Given the description of an element on the screen output the (x, y) to click on. 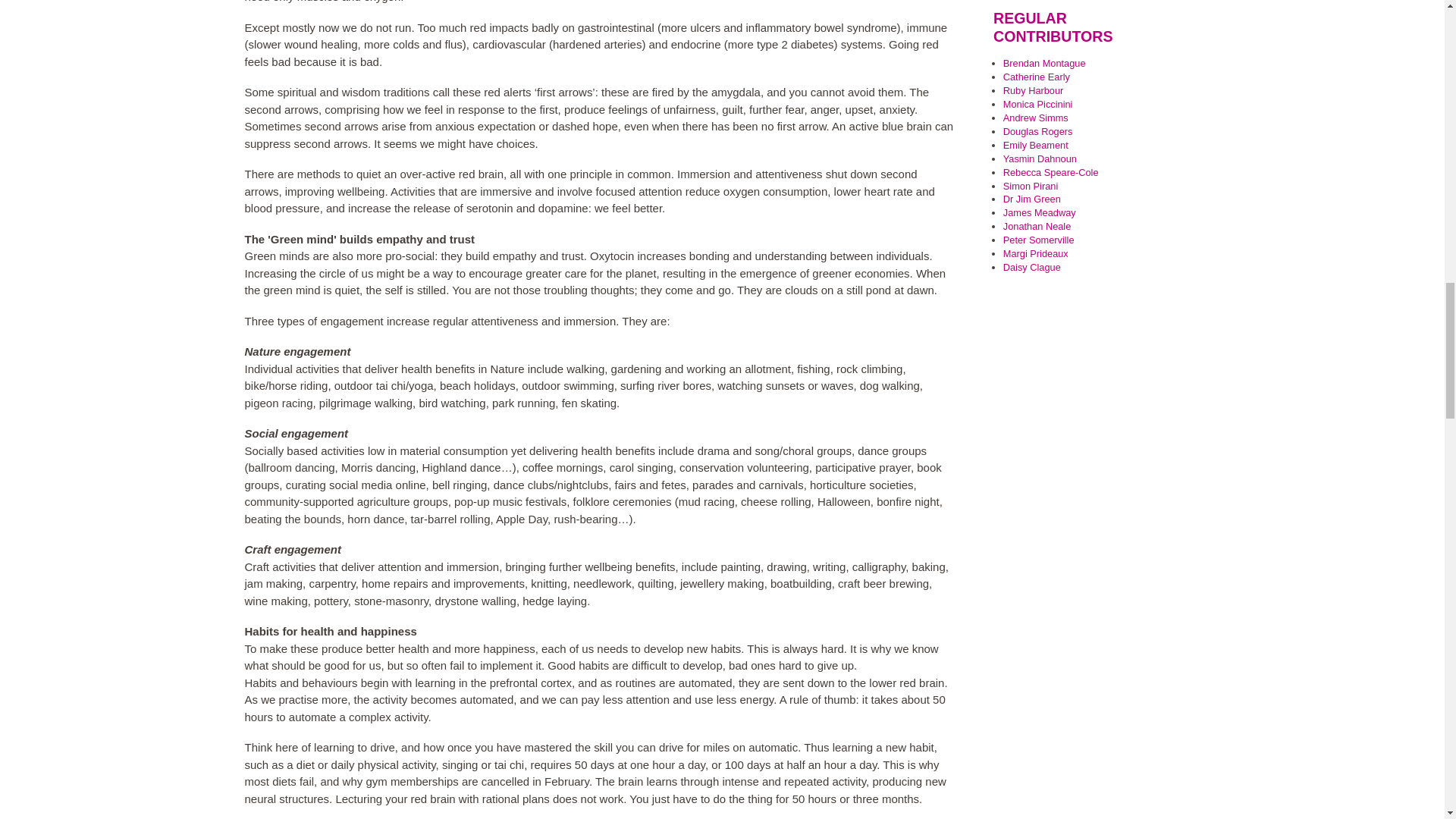
Catherine Early (1036, 76)
Andrew Simms (1035, 117)
Brendan Montague (1044, 62)
Ruby Harbour (1033, 90)
Douglas Rogers (1038, 131)
Monica Piccinini (1038, 103)
